Given the description of an element on the screen output the (x, y) to click on. 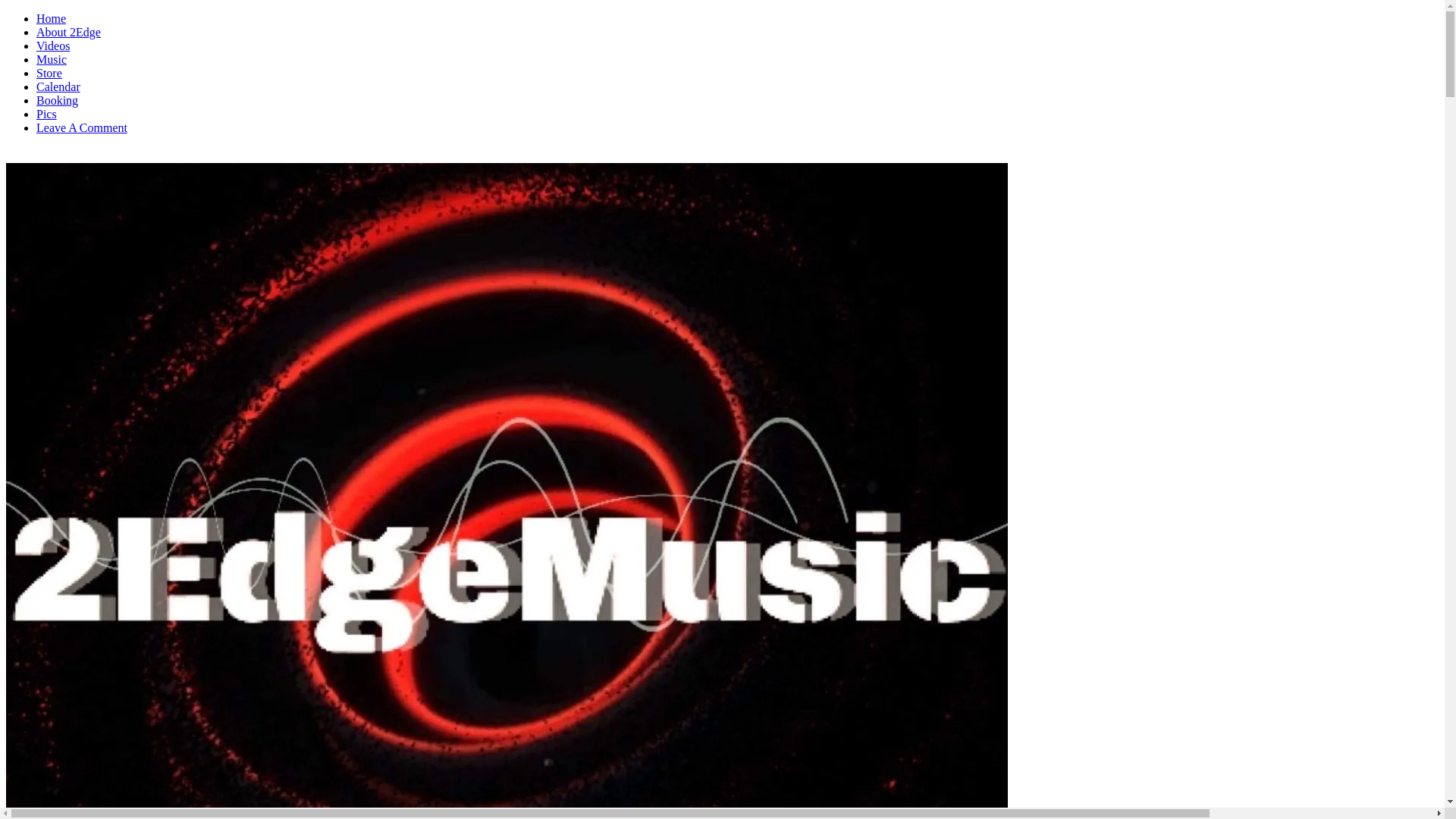
Videos Element type: text (52, 45)
Leave A Comment Element type: text (81, 127)
Store Element type: text (49, 72)
Pics Element type: text (46, 113)
About 2Edge Element type: text (68, 31)
Calendar Element type: text (58, 86)
Booking Element type: text (57, 100)
Home Element type: text (50, 18)
Music Element type: text (51, 59)
